Given the description of an element on the screen output the (x, y) to click on. 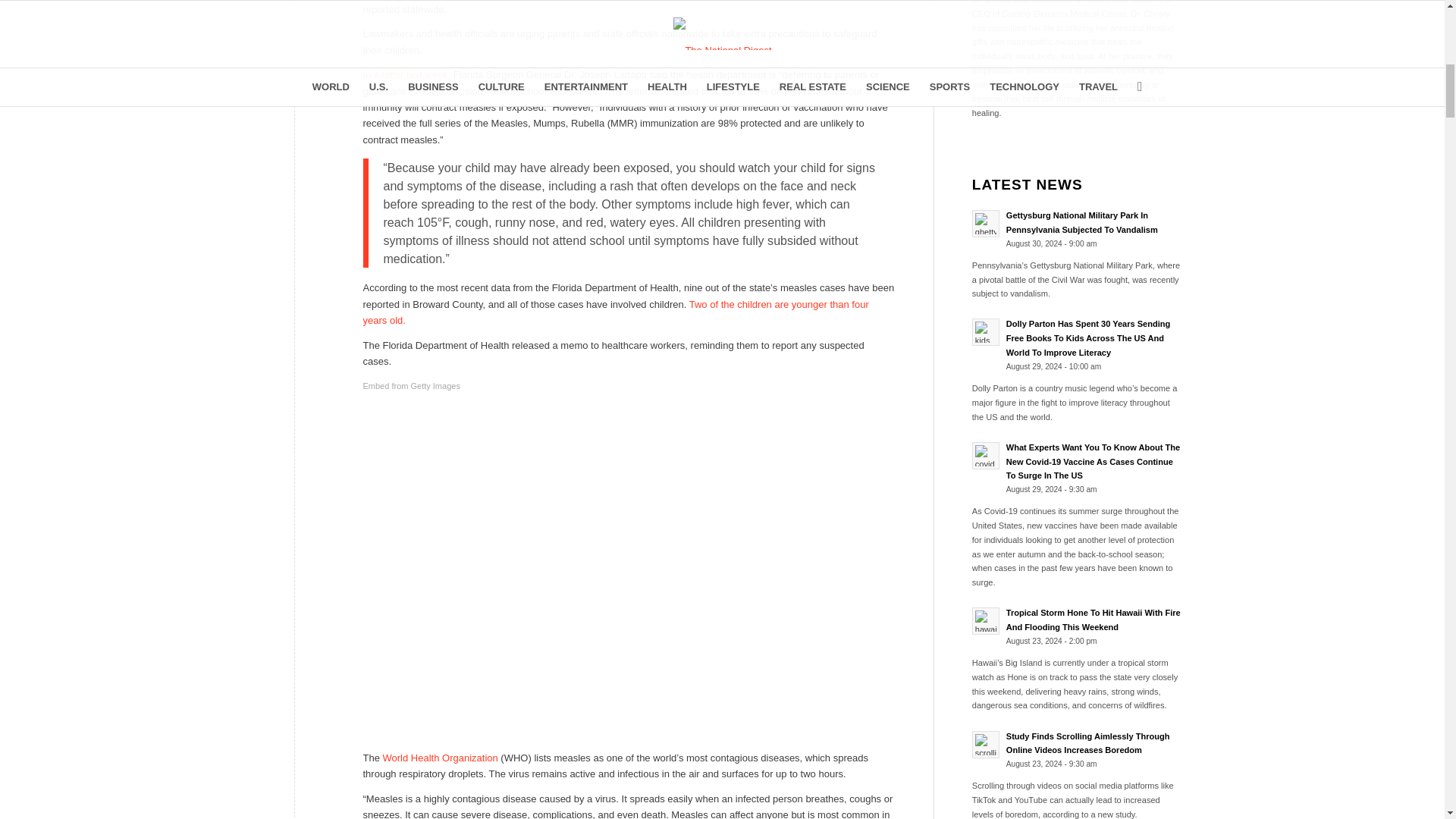
Two of the children are younger than four years old. (614, 311)
Embed from Getty Images (411, 385)
World Health Organization (439, 757)
In a letter last week, (405, 74)
